Given the description of an element on the screen output the (x, y) to click on. 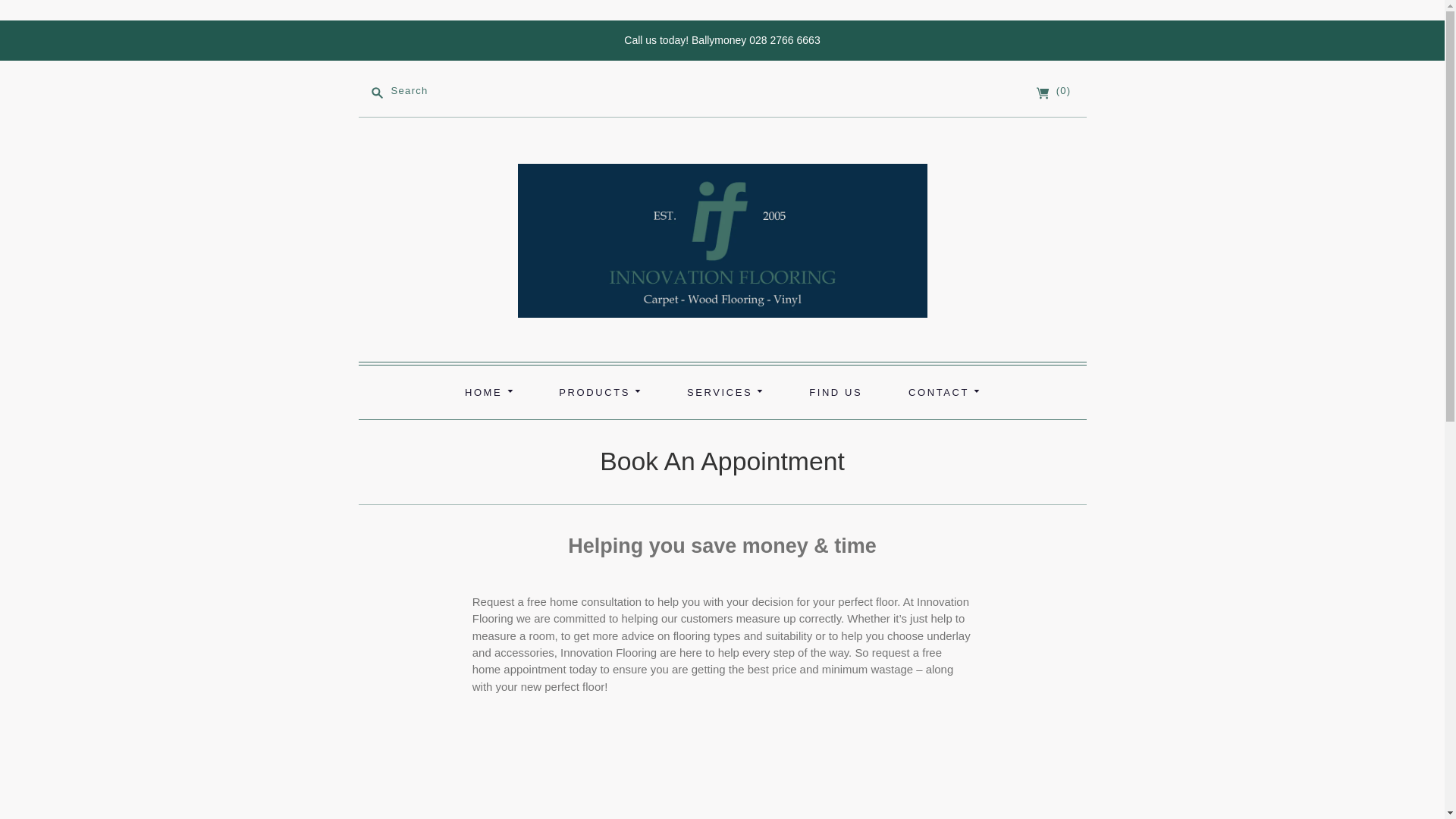
FIND US (835, 391)
CONTACT (943, 391)
SERVICES (724, 391)
HOME (488, 391)
PRODUCTS (599, 391)
